Given the description of an element on the screen output the (x, y) to click on. 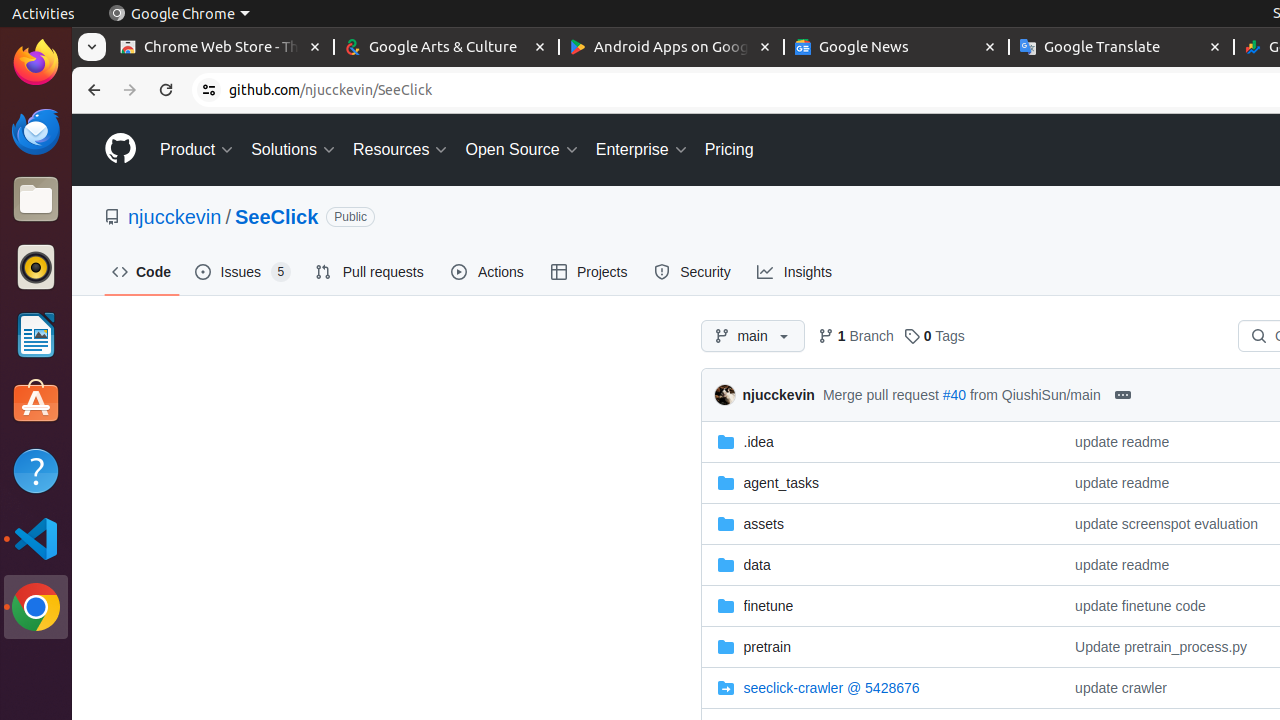
Forward Element type: push-button (130, 90)
.idea, (Directory) Element type: table-cell (880, 441)
update finetune code Element type: link (1140, 605)
data, (Directory) Element type: link (757, 564)
Google Chrome Element type: menu (179, 13)
